Given the description of an element on the screen output the (x, y) to click on. 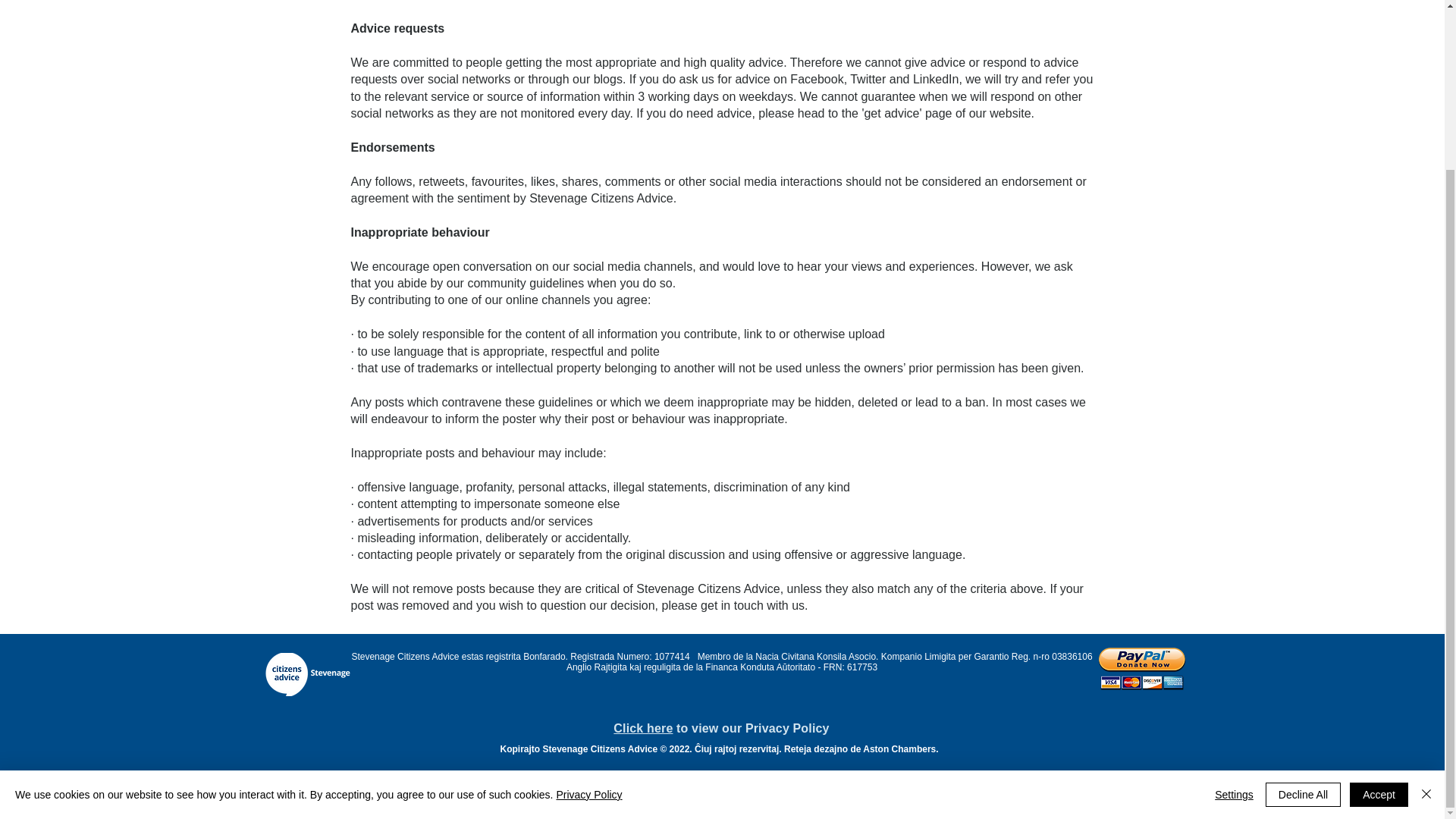
Click here (642, 727)
Privacy Policy (588, 591)
Decline All (1302, 591)
Accept (1378, 591)
